Given the description of an element on the screen output the (x, y) to click on. 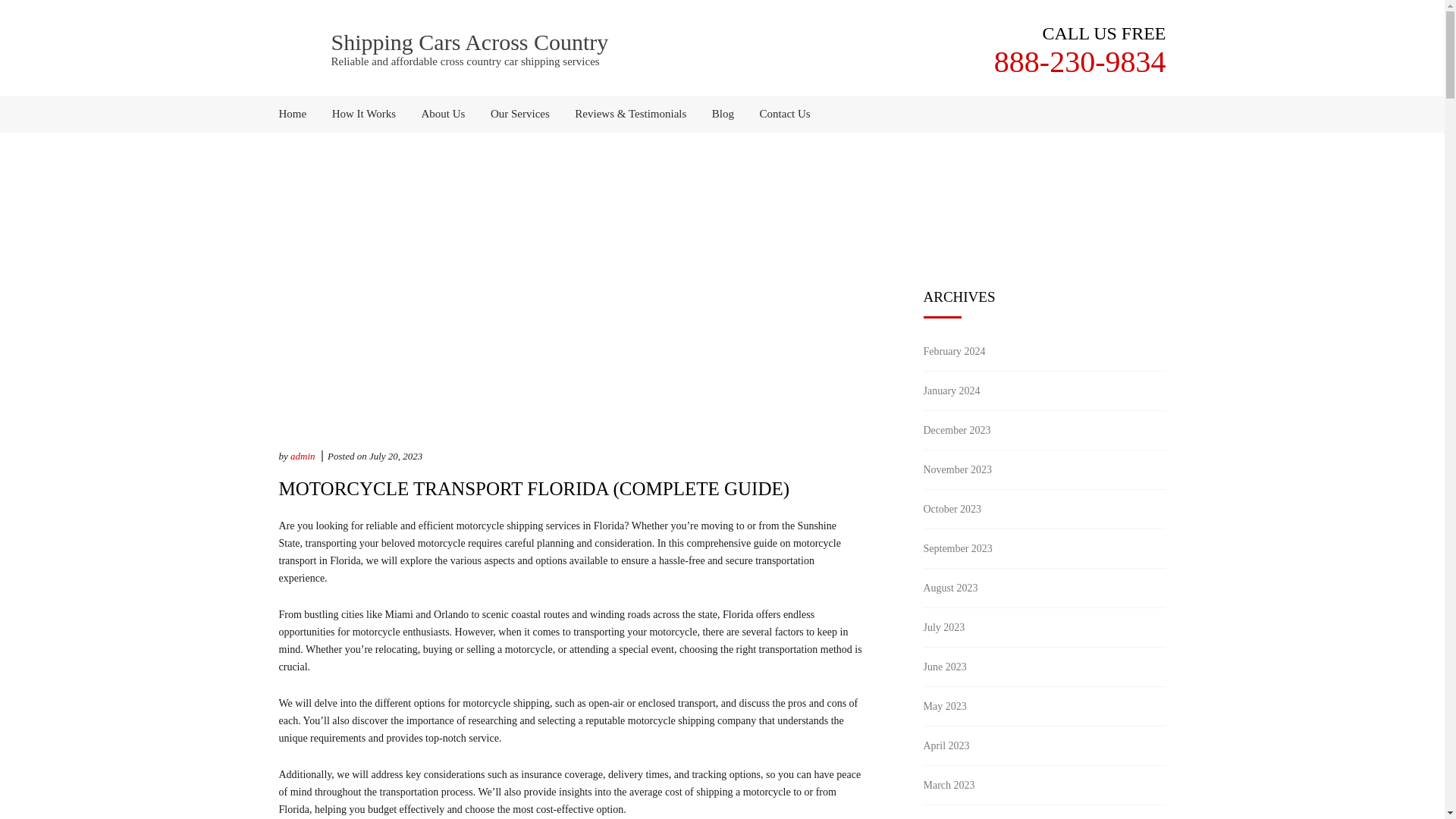
Our Services (519, 114)
Posts by admin (302, 455)
Shipping Cars Across Country (469, 42)
admin (302, 455)
Contact Us (779, 114)
Home (298, 114)
How It Works (363, 114)
888-230-9834 (1080, 61)
About Us (443, 114)
Blog (722, 114)
